Given the description of an element on the screen output the (x, y) to click on. 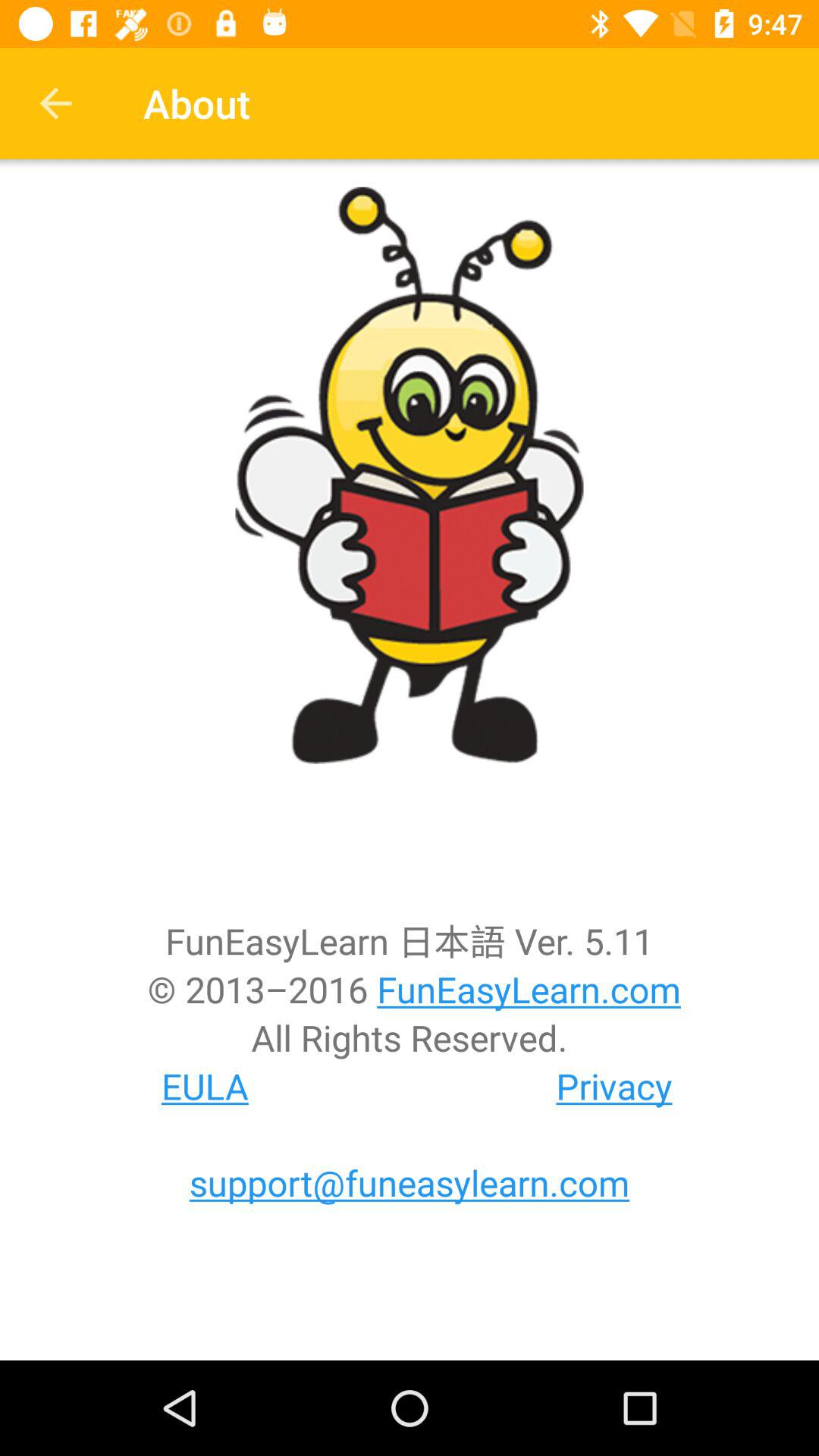
launch item below the all rights reserved. (204, 1085)
